Given the description of an element on the screen output the (x, y) to click on. 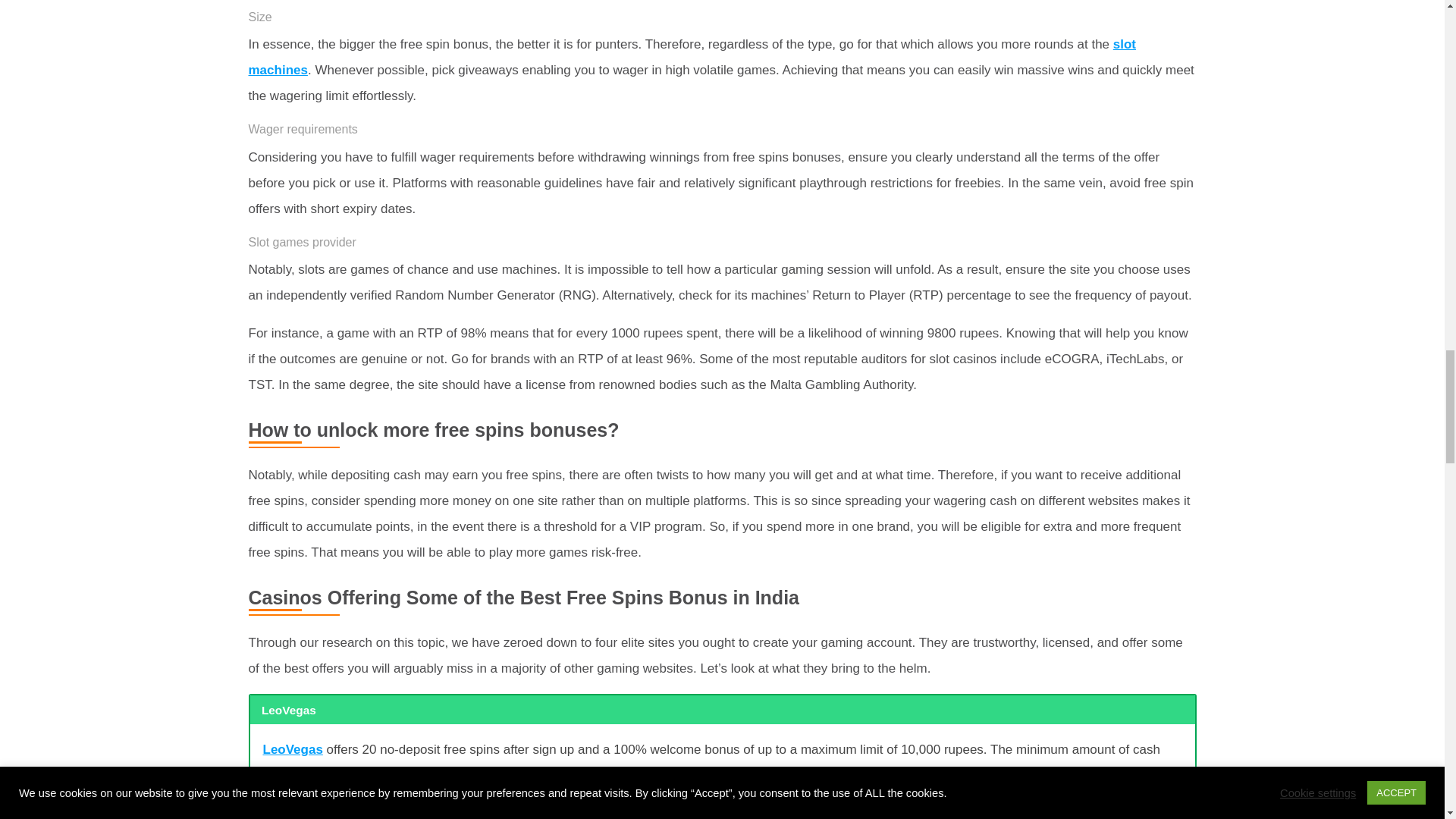
Play American Roulette Online For Real Money (692, 56)
